Given the description of an element on the screen output the (x, y) to click on. 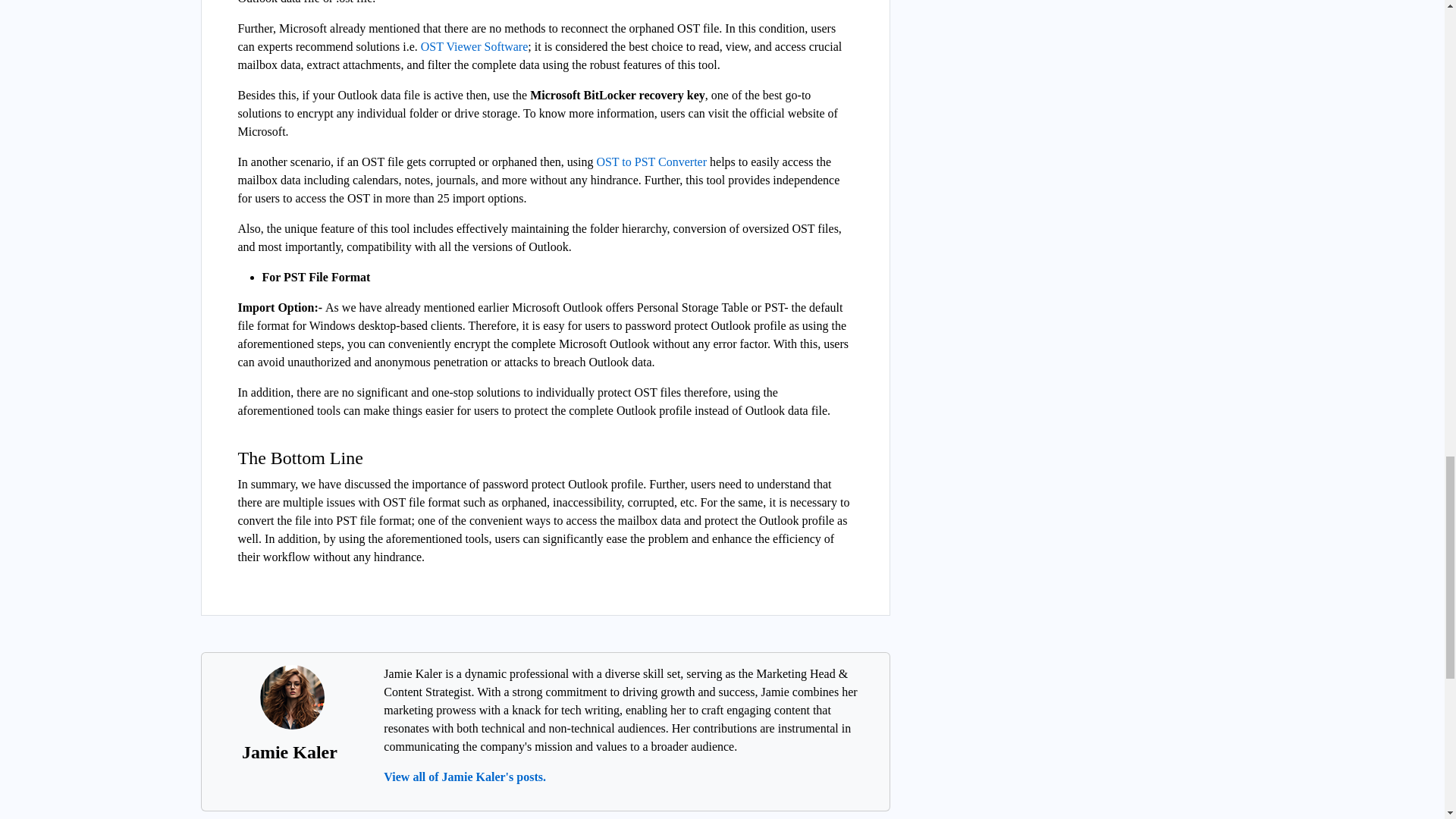
OST to PST Converter (652, 161)
OST Viewer Software (474, 46)
View all of Jamie Kaler's posts. (465, 776)
